Given the description of an element on the screen output the (x, y) to click on. 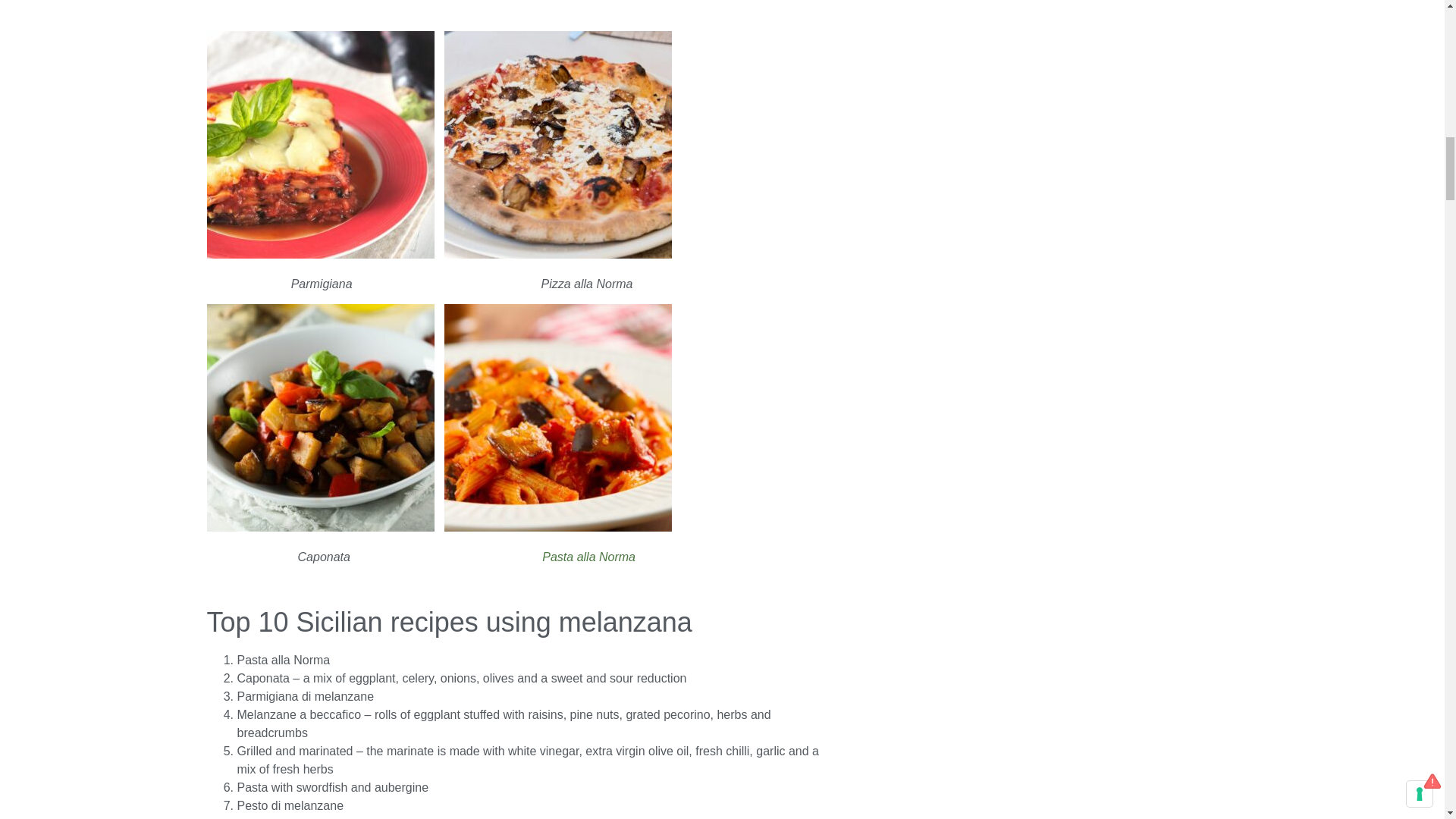
Pasta alla Norma (587, 556)
